Given the description of an element on the screen output the (x, y) to click on. 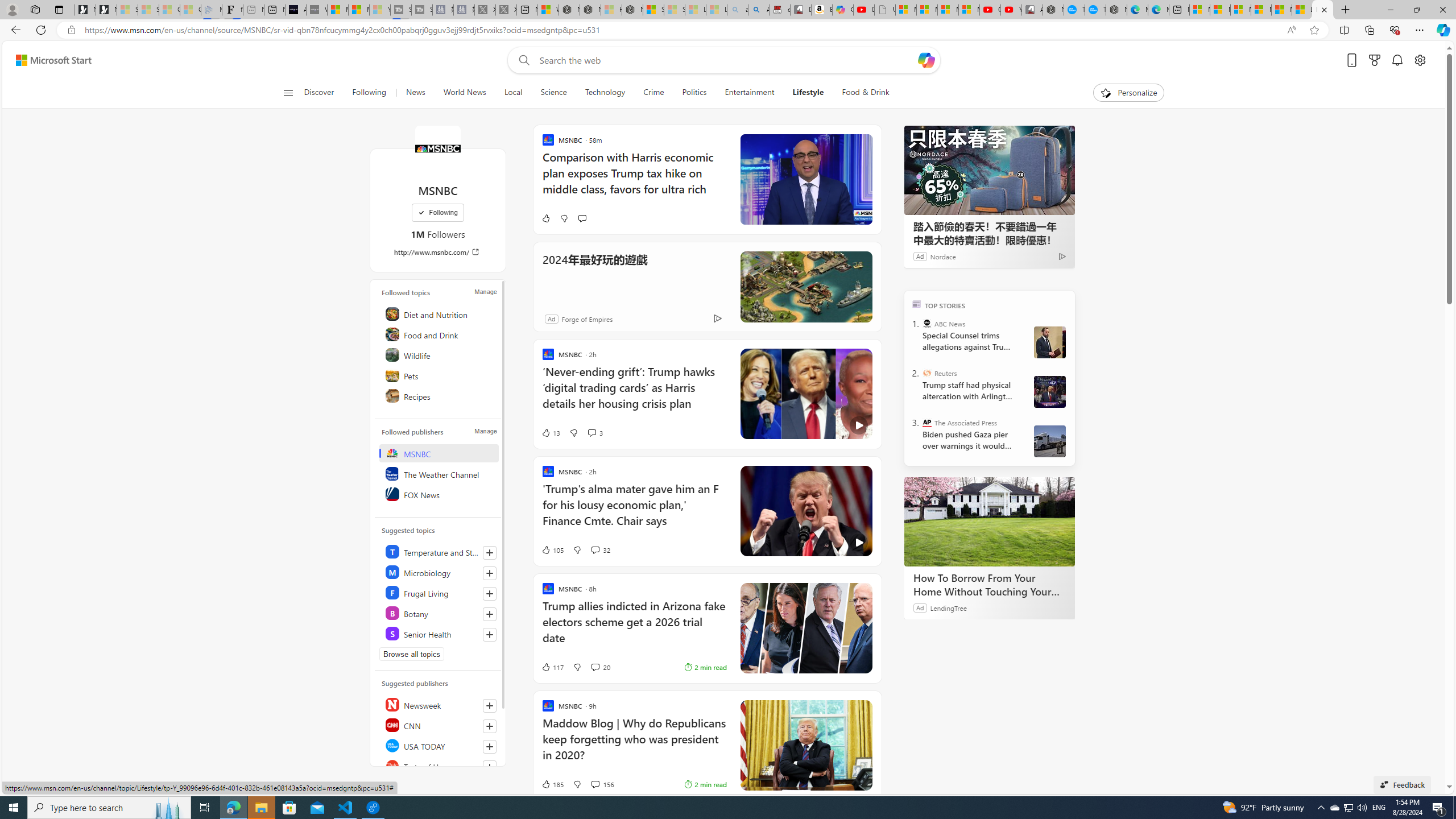
AI Voice Changer for PC and Mac - Voice.ai (296, 9)
Reuters (927, 372)
http://www.msnbc.com/ (438, 251)
Follow this topic (489, 634)
Technology (605, 92)
105 Like (551, 549)
View comments 3 Comment (594, 432)
Follow this topic (489, 634)
Science (553, 92)
